Given the description of an element on the screen output the (x, y) to click on. 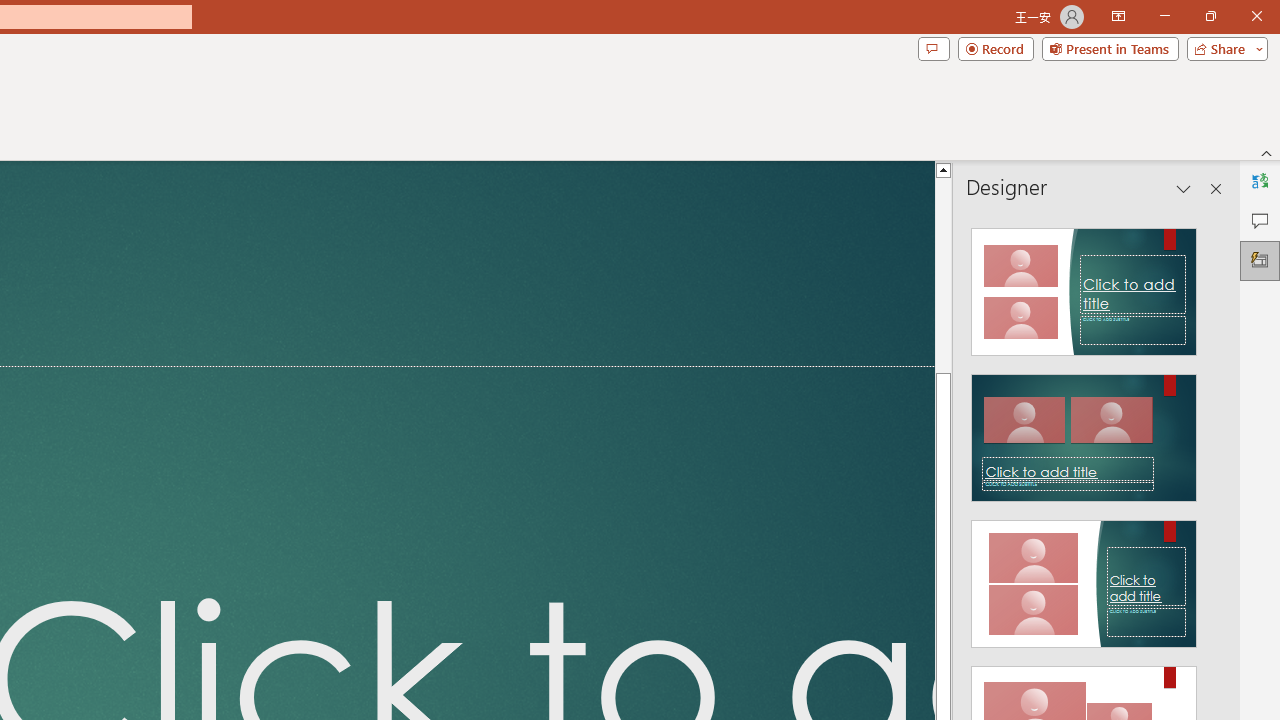
Design Idea (1083, 577)
Recommended Design: Design Idea (1083, 286)
